Given the description of an element on the screen output the (x, y) to click on. 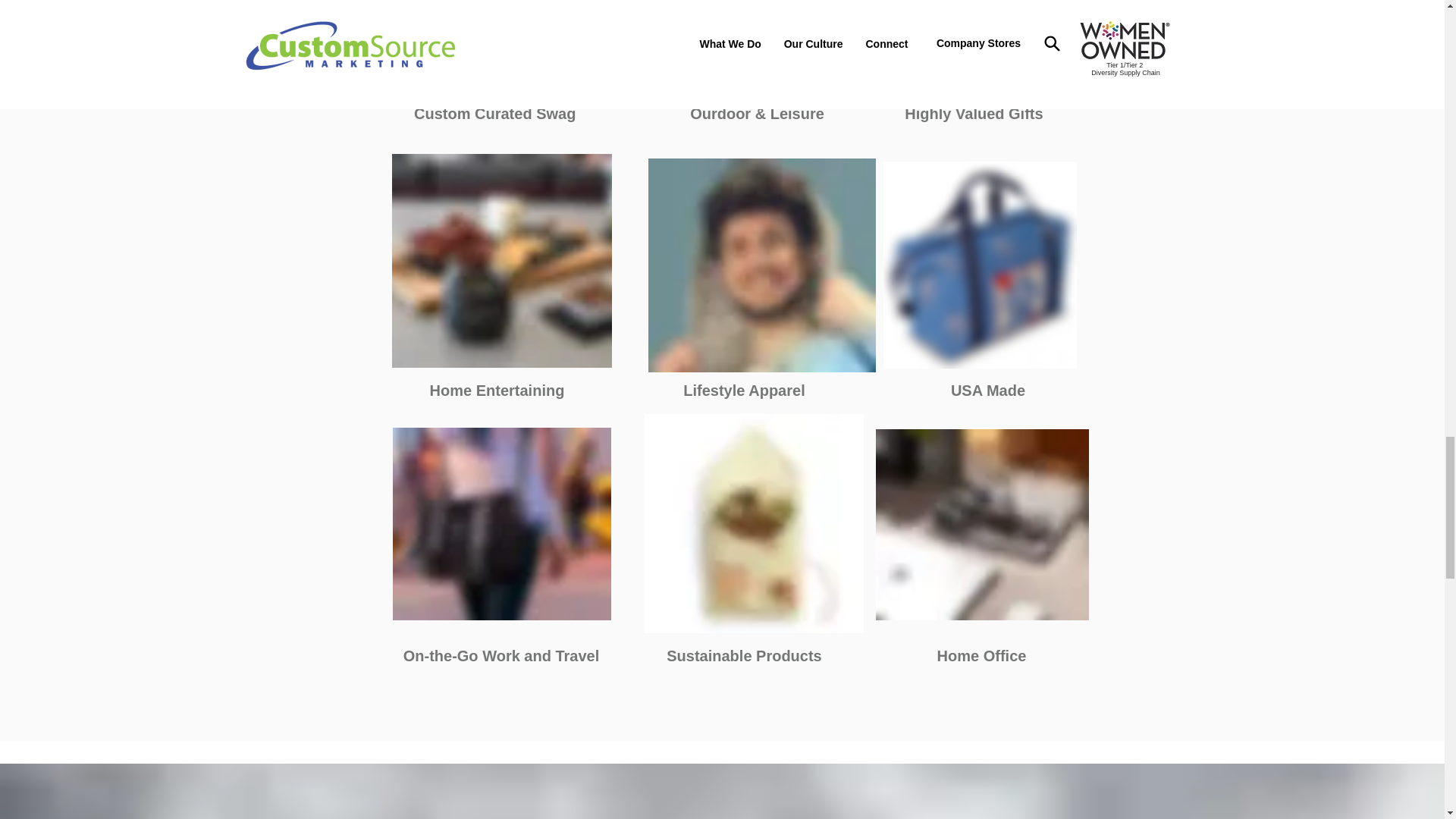
101181-130-9-Full.jpg (750, 45)
cross canvas 250zpabstcooler150.png (978, 264)
Yeti drinkware yeti.JPG (975, 45)
SIQWC-NYJWX.jpg (754, 523)
SIQWC-NYJWX.jpg (501, 45)
BG401-messenger 3.jpg (502, 523)
